Given the description of an element on the screen output the (x, y) to click on. 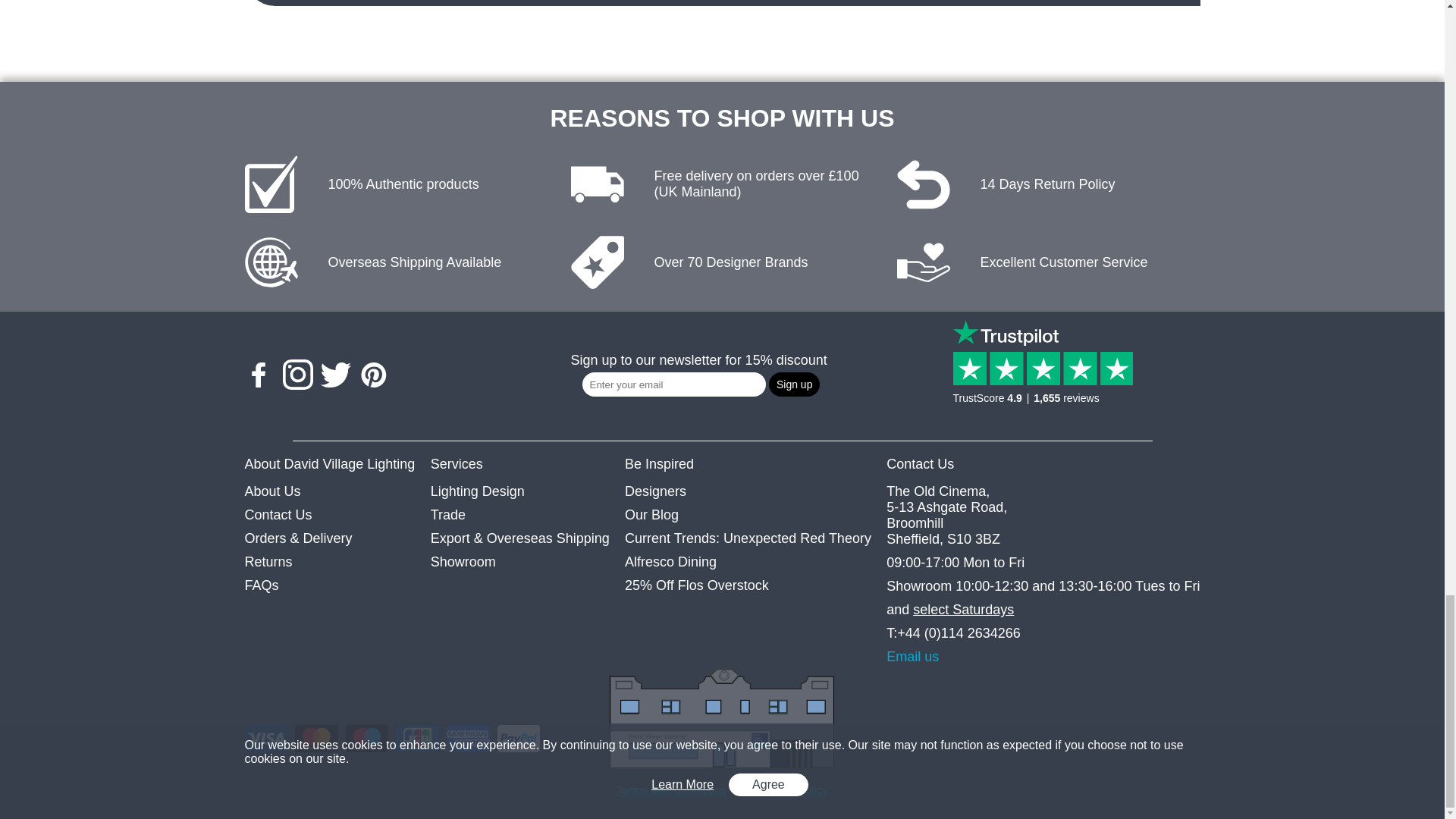
Sign up (793, 384)
